Given the description of an element on the screen output the (x, y) to click on. 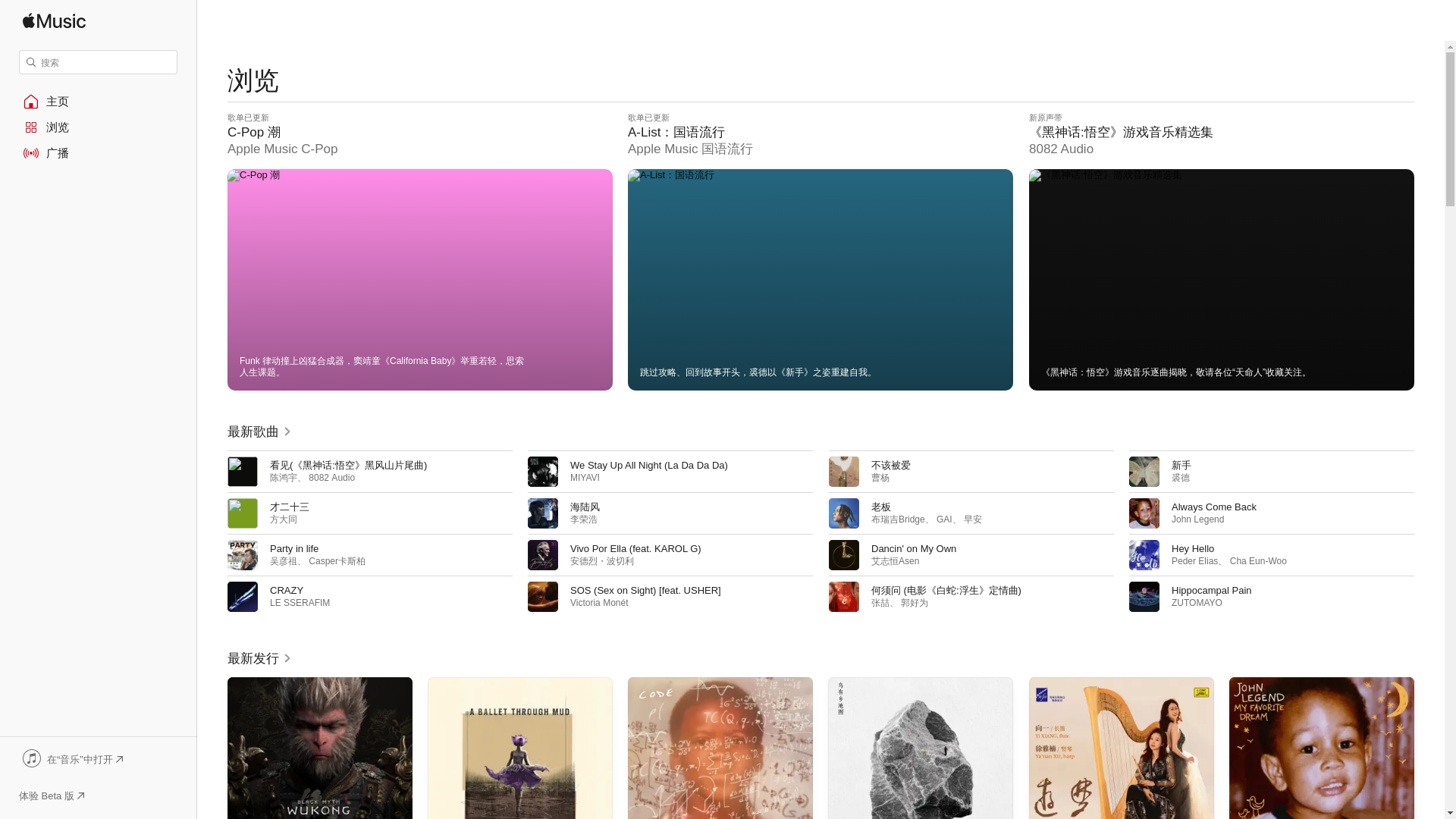
MIYAVI (584, 477)
Party in life (293, 548)
8082 Audio (331, 477)
LE SSERAFIM (299, 602)
CRAZY (285, 590)
